Given the description of an element on the screen output the (x, y) to click on. 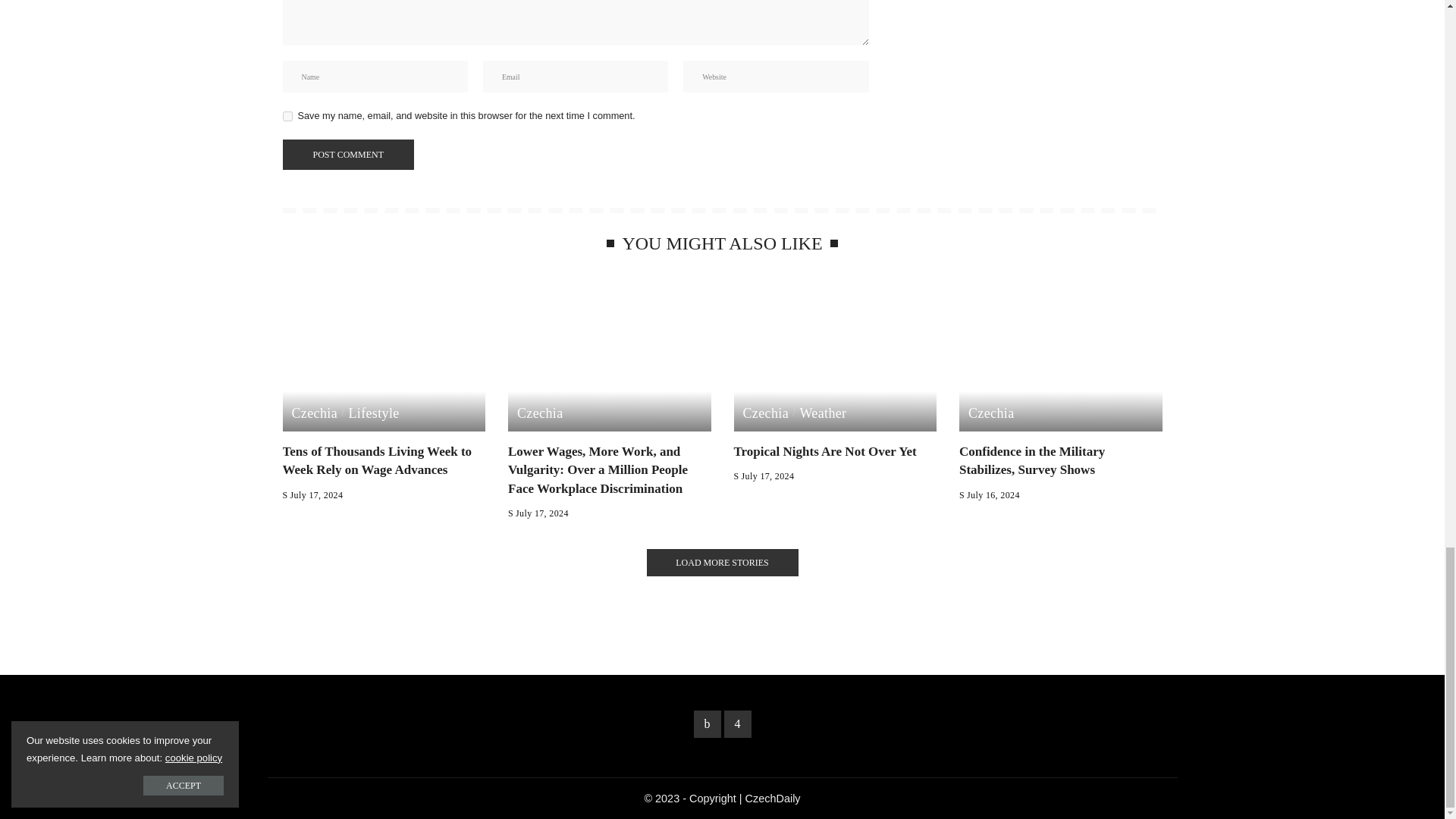
Post Comment (347, 154)
yes (287, 116)
